Given the description of an element on the screen output the (x, y) to click on. 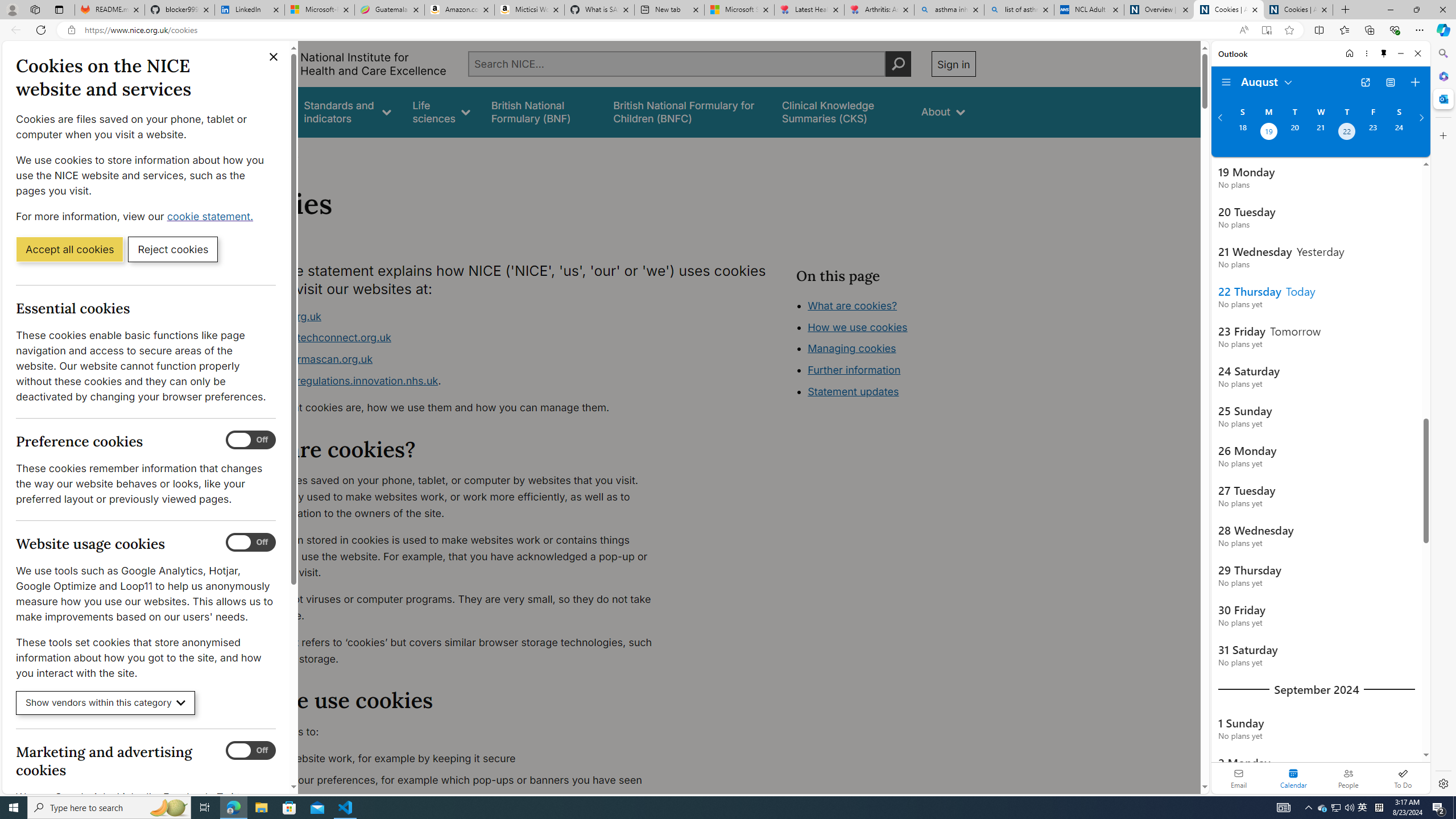
www.healthtechconnect.org.uk (452, 338)
Cookies | About | NICE (1297, 9)
www.healthtechconnect.org.uk (314, 337)
Show vendors within this category (105, 703)
How we use cookies (857, 327)
Further information (854, 369)
